Given the description of an element on the screen output the (x, y) to click on. 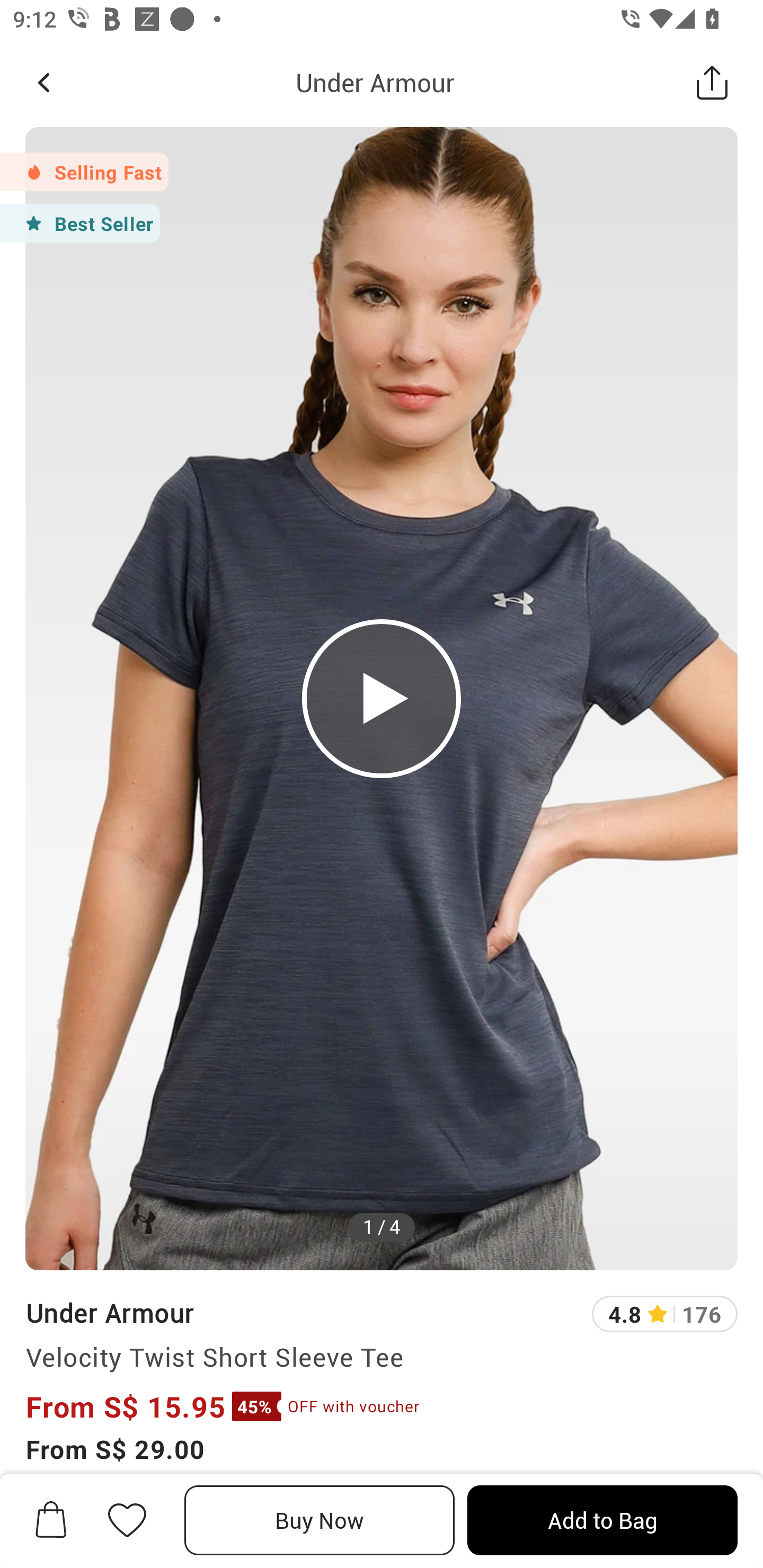
Under Armour (375, 82)
Share this Product (711, 82)
Under Armour (109, 1312)
4.8 176 (664, 1313)
Buy Now (319, 1519)
Add to Bag (601, 1519)
